Given the description of an element on the screen output the (x, y) to click on. 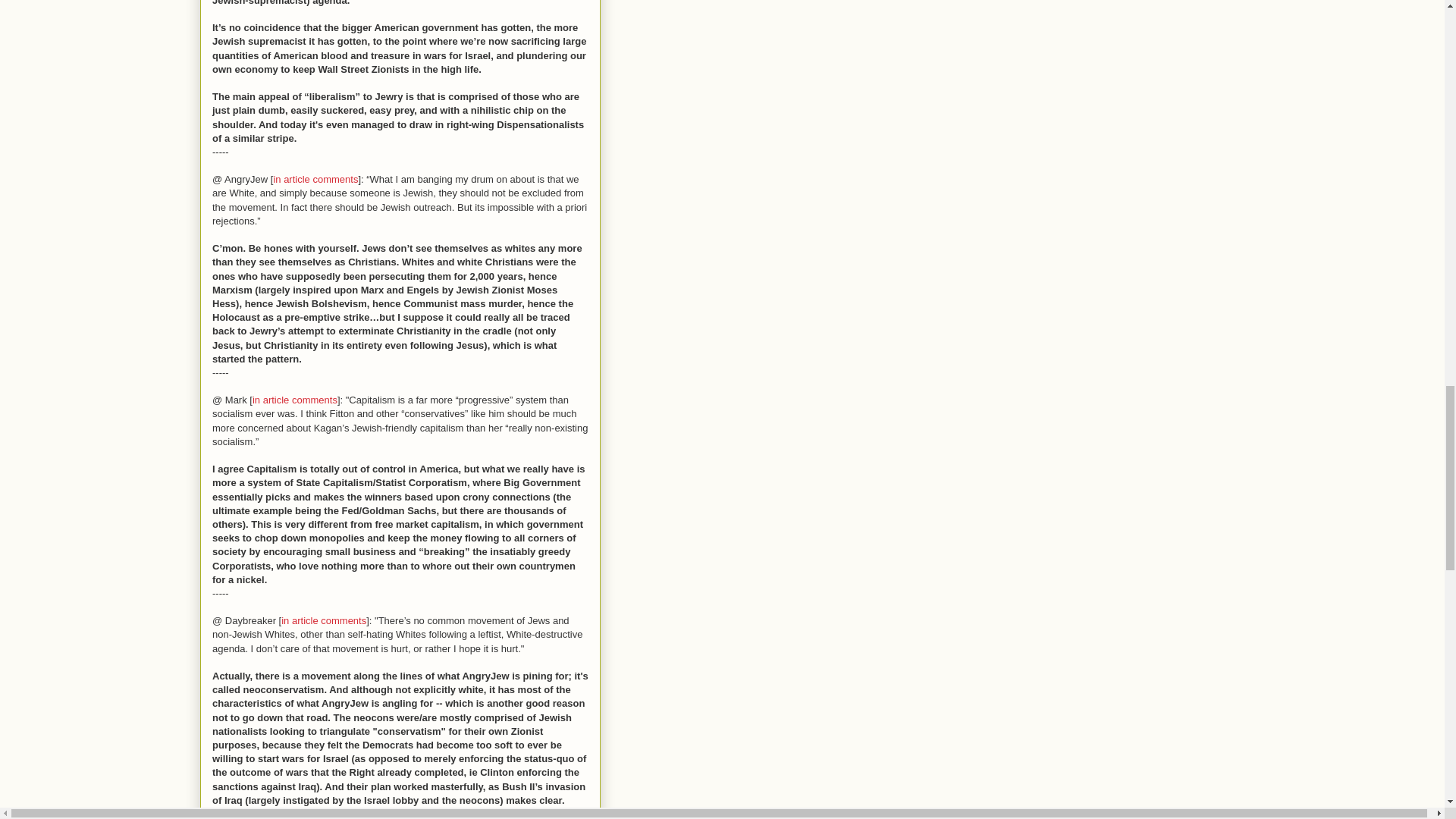
in article comments (323, 620)
in article comments (294, 399)
in article comments (315, 179)
